Given the description of an element on the screen output the (x, y) to click on. 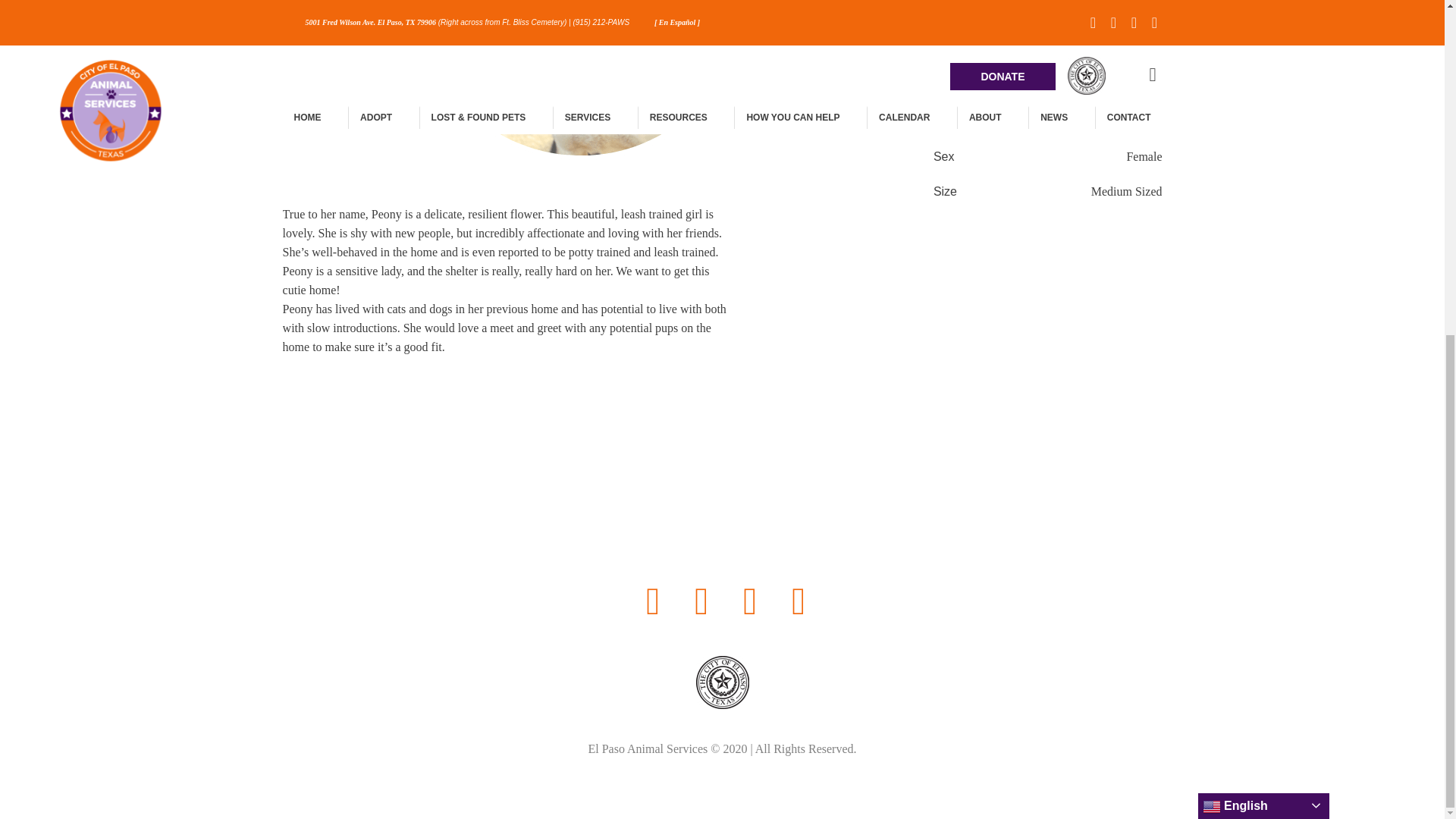
ElPasoAnimalServicesYouTube (749, 39)
Peony (585, 89)
ElPasoAnimalServicesInstagram (797, 39)
Peony (584, 89)
ElPasoAnimalServicesFacebook (652, 39)
ElPasoAnimalServicesTwitter (701, 39)
